Given the description of an element on the screen output the (x, y) to click on. 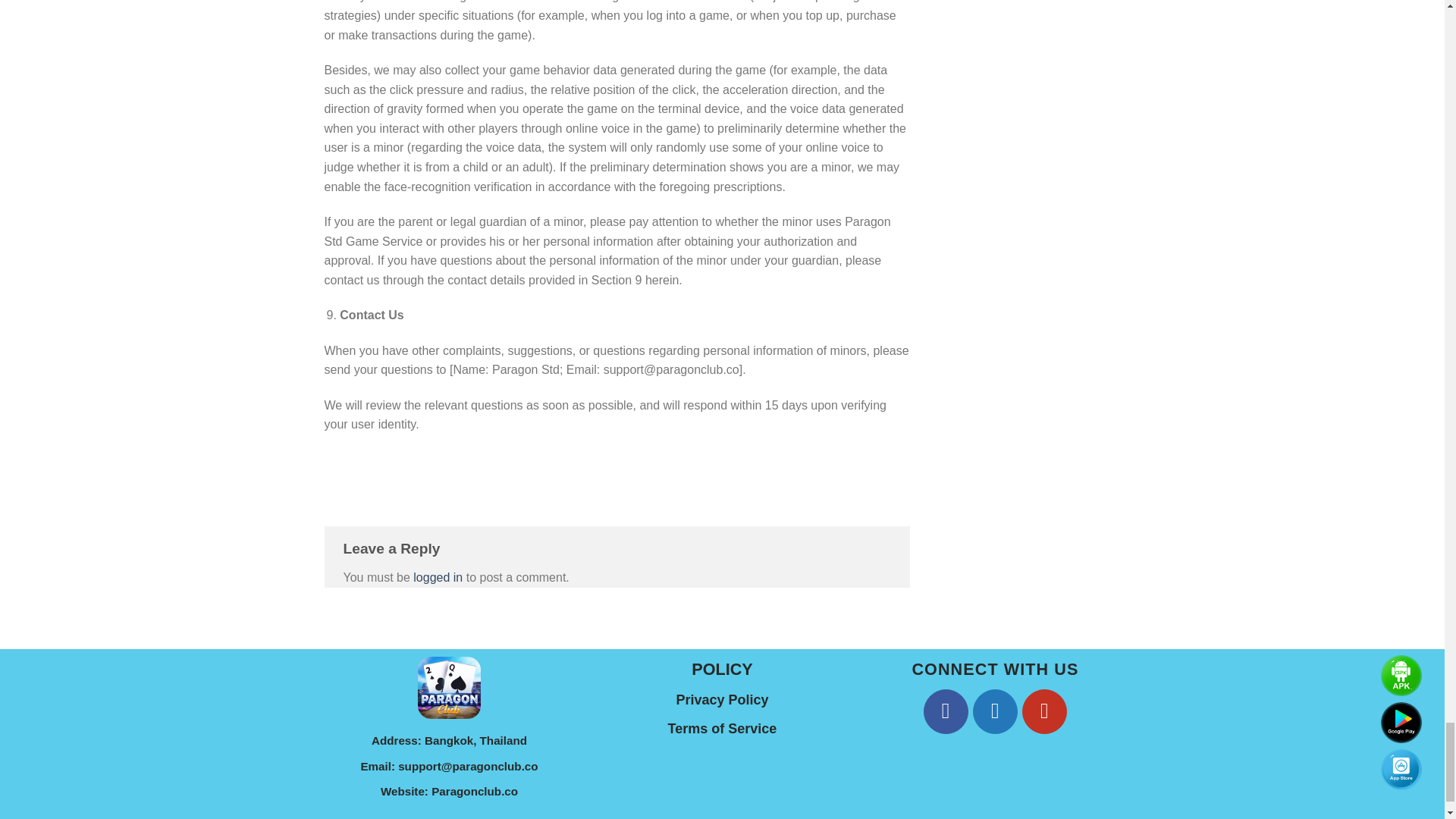
Follow on Facebook (945, 711)
Follow on YouTube (1044, 711)
Terms of Service (722, 728)
Follow on Twitter (994, 711)
Paragonclub.co (474, 790)
logged in (438, 576)
Privacy Policy (721, 699)
